Given the description of an element on the screen output the (x, y) to click on. 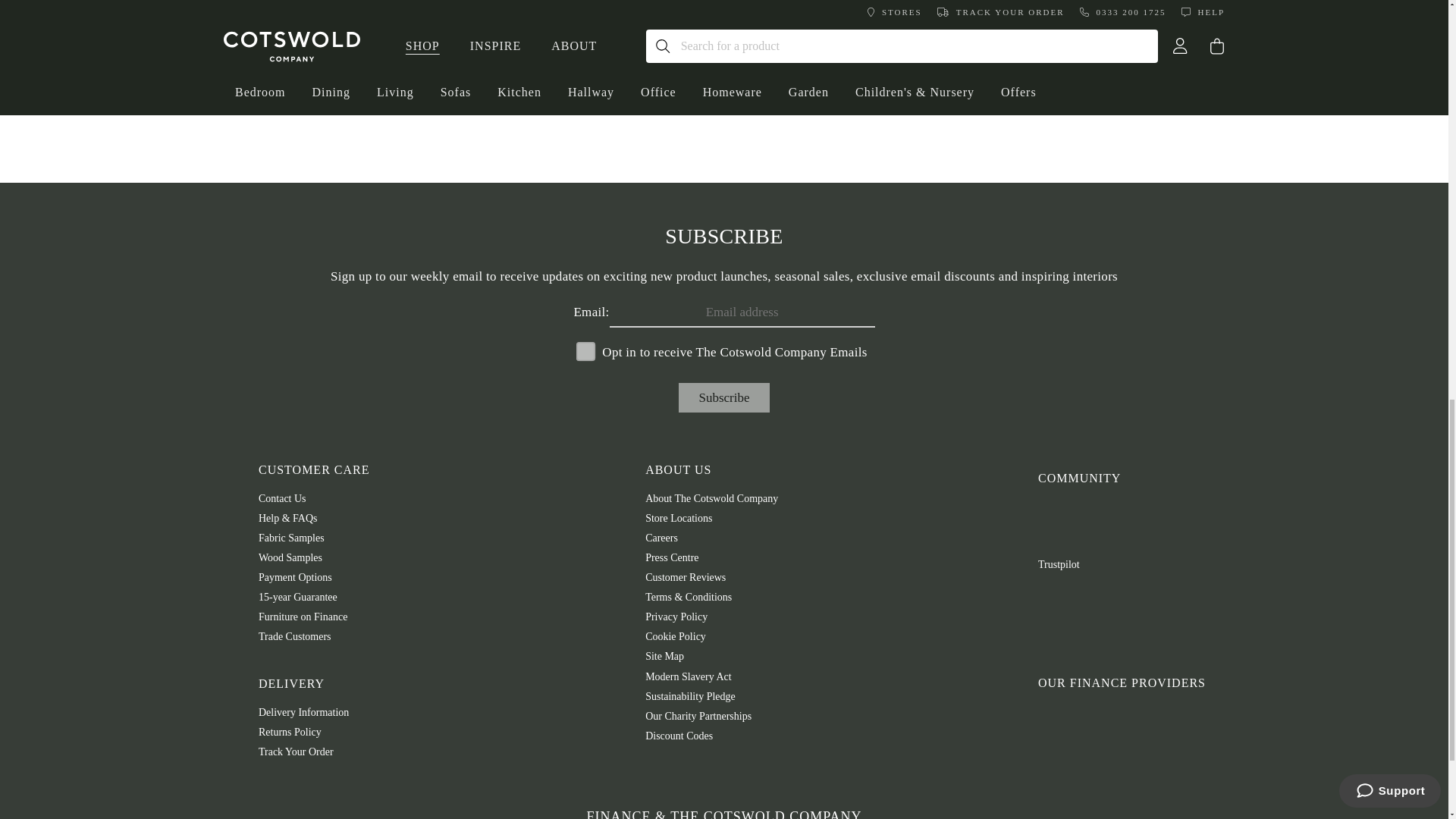
on (581, 346)
